Given the description of an element on the screen output the (x, y) to click on. 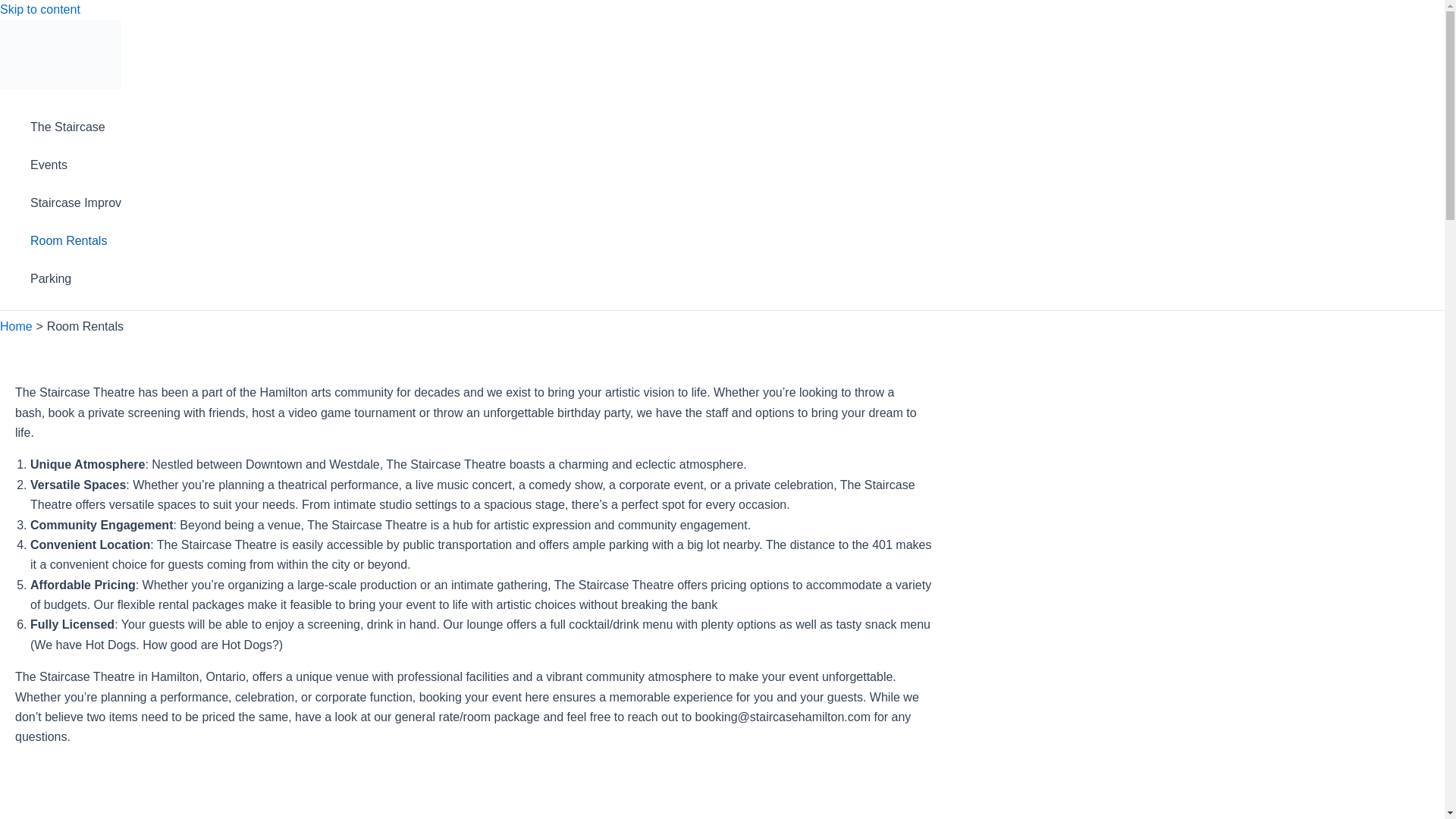
Home (16, 326)
The Staircase (75, 127)
Skip to content (40, 9)
Room Rentals (75, 240)
Skip to content (40, 9)
Parking (75, 279)
Staircase Improv (75, 202)
Events (75, 165)
